Given the description of an element on the screen output the (x, y) to click on. 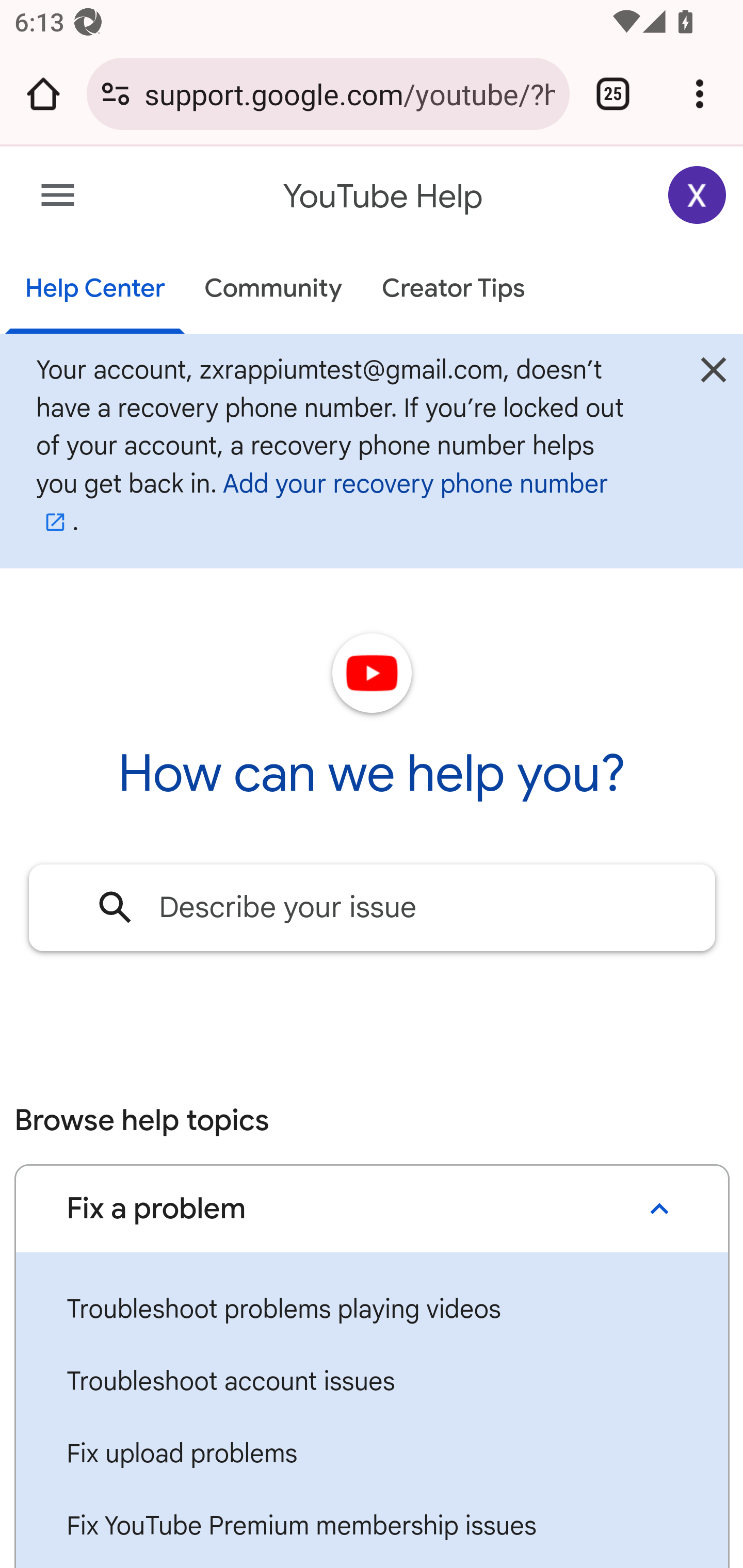
Open the home page (43, 93)
Connection is secure (115, 93)
Switch or close tabs (612, 93)
Customize and control Google Chrome (699, 93)
Main menu (58, 195)
YouTube Help (383, 197)
Google Account: Xiaoran (zxrappiumtest@gmail.com) (697, 195)
Help Center (94, 289)
Community (273, 289)
Creator Tips (453, 289)
Close (713, 374)
Add your recovery phone number (322, 503)
Search (116, 906)
Fix a problem, Expanded list with 7 items (371, 1207)
Troubleshoot problems playing videos (371, 1309)
Troubleshoot account issues (371, 1382)
Fix upload problems (371, 1454)
Fix YouTube Premium membership issues (371, 1526)
